Given the description of an element on the screen output the (x, y) to click on. 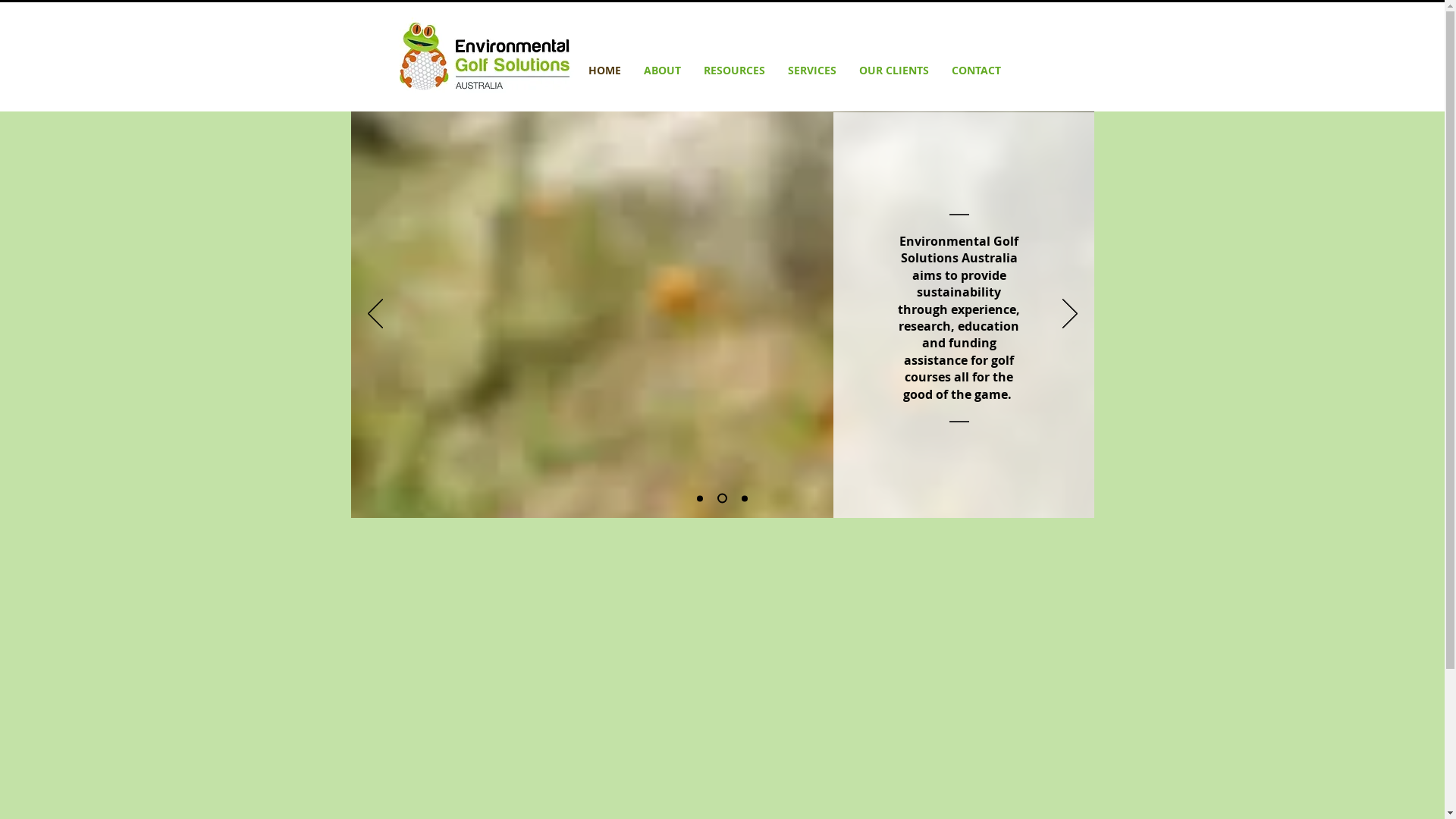
SERVICES Element type: text (811, 69)
CONTACT Element type: text (976, 69)
OUR CLIENTS Element type: text (893, 69)
ABOUT Element type: text (662, 69)
RESOURCES Element type: text (733, 69)
HOME Element type: text (603, 69)
Business Card1.jpg Element type: hover (484, 58)
